Given the description of an element on the screen output the (x, y) to click on. 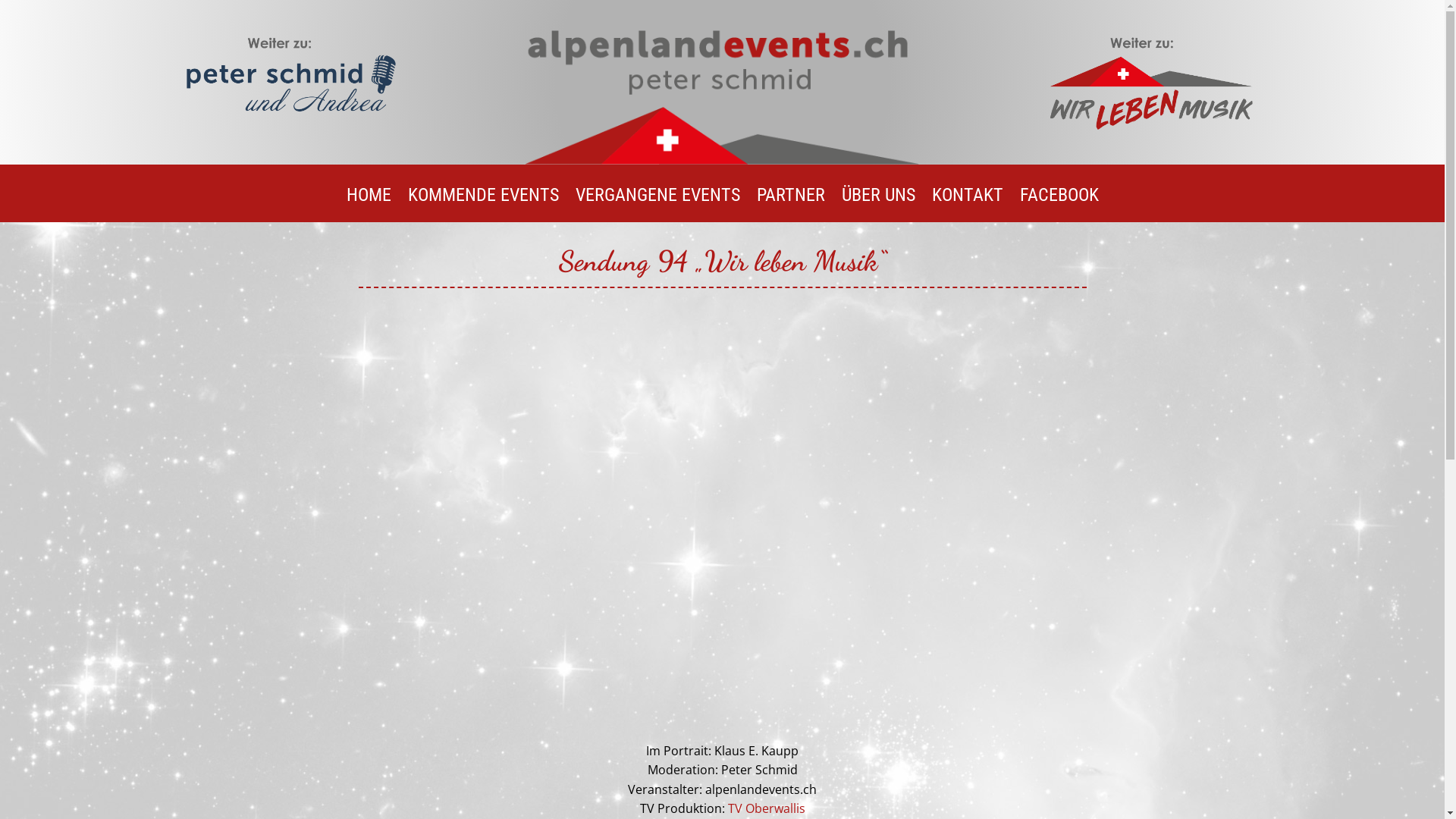
HOME Element type: text (367, 205)
KOMMENDE EVENTS Element type: text (482, 205)
FACEBOOK Element type: text (1058, 205)
PARTNER Element type: text (790, 205)
Peter Schmid & Andrea_weiter zu Element type: hover (290, 80)
TV Oberwallis Element type: text (766, 808)
Wir leben musik weiter zu Element type: hover (1152, 79)
VERGANGENE EVENTS Element type: text (656, 205)
KONTAKT Element type: text (966, 205)
